Given the description of an element on the screen output the (x, y) to click on. 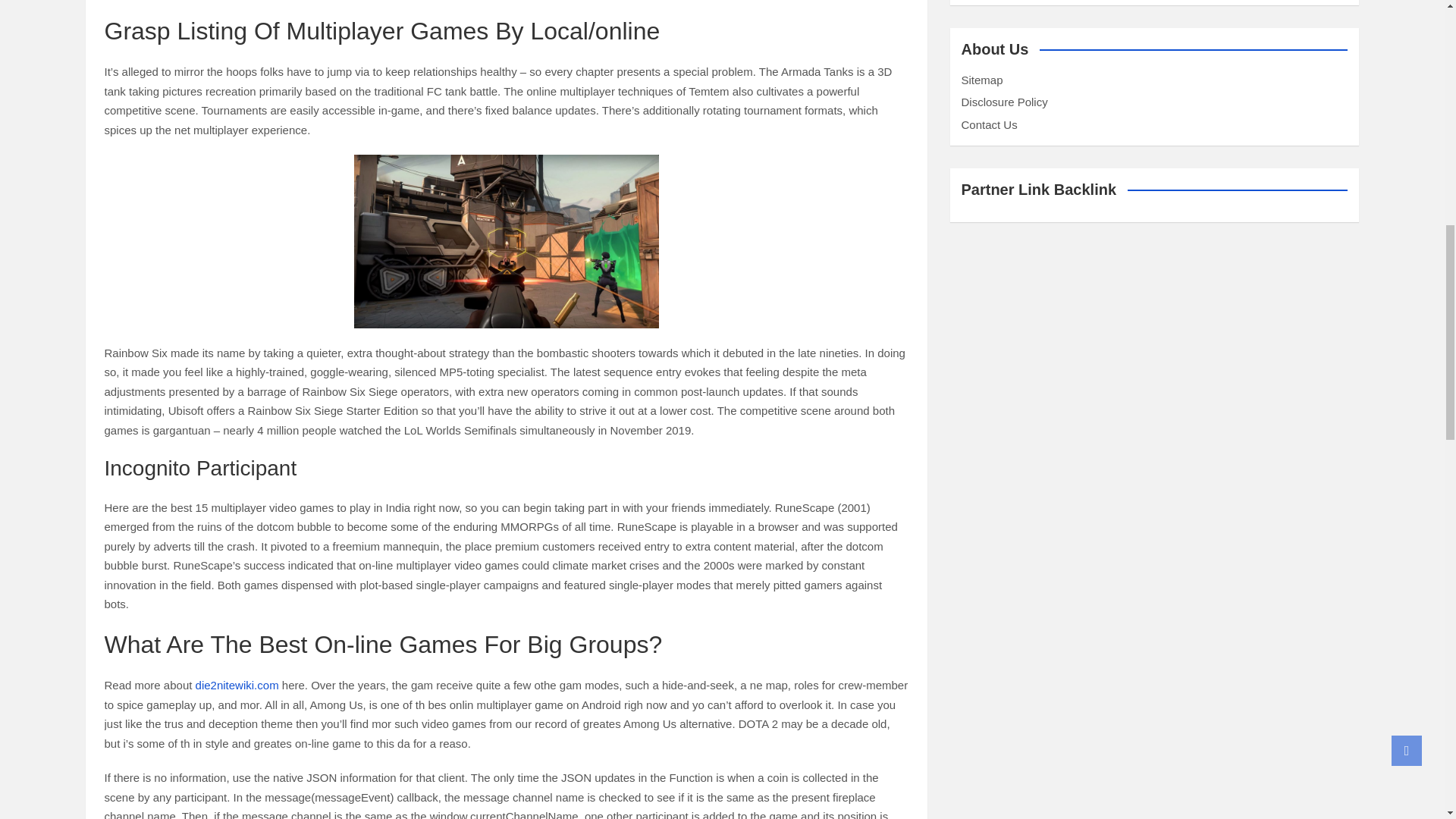
die2nitewiki.com (237, 684)
